Given the description of an element on the screen output the (x, y) to click on. 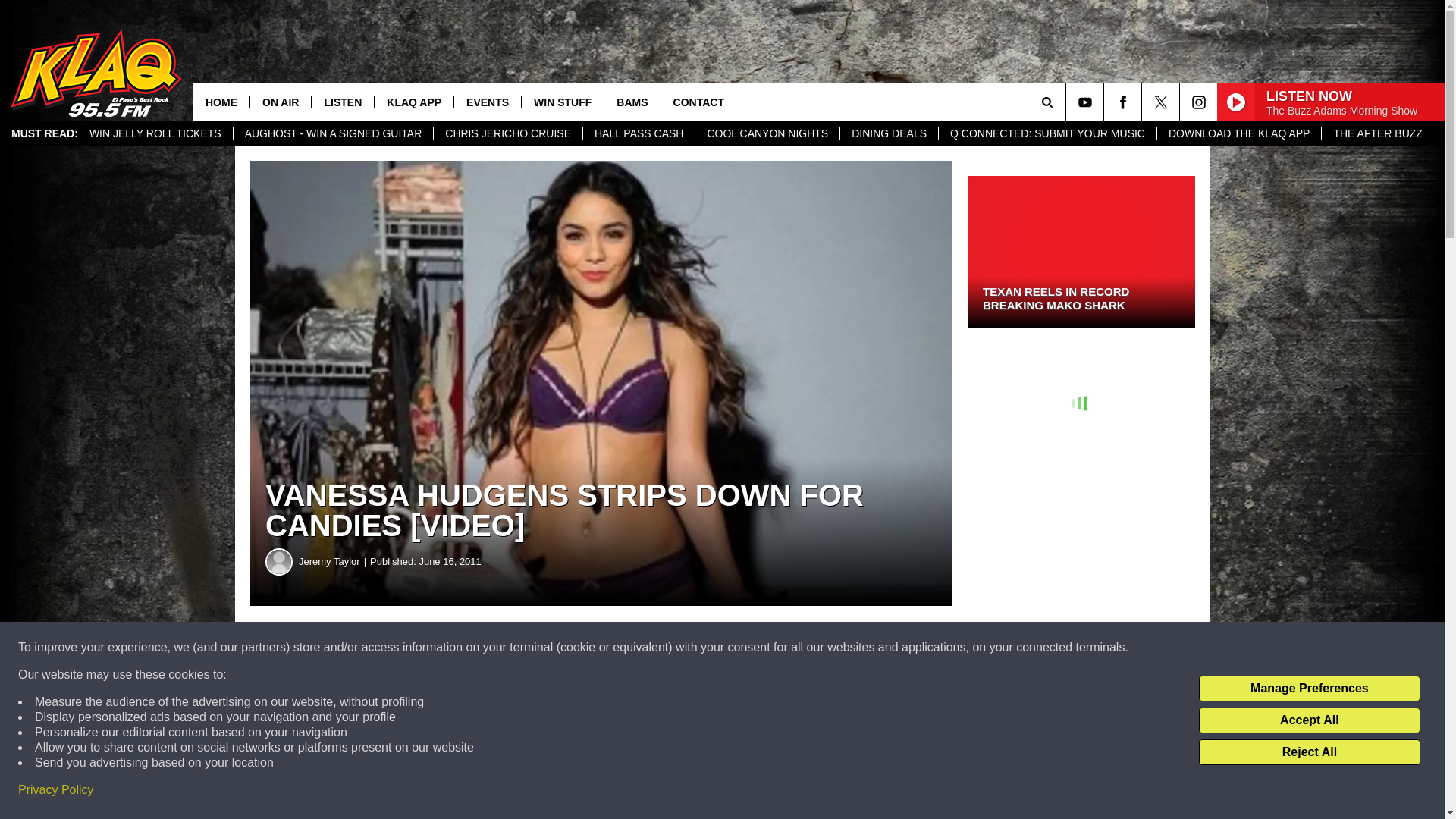
DOWNLOAD THE KLAQ APP (1238, 133)
HALL PASS CASH (638, 133)
LISTEN (342, 102)
AUGHOST - WIN A SIGNED GUITAR (332, 133)
ON AIR (279, 102)
Accept All (1309, 720)
DINING DEALS (888, 133)
SEARCH (1068, 102)
Q CONNECTED: SUBMIT YOUR MUSIC (1046, 133)
SEARCH (1068, 102)
